Given the description of an element on the screen output the (x, y) to click on. 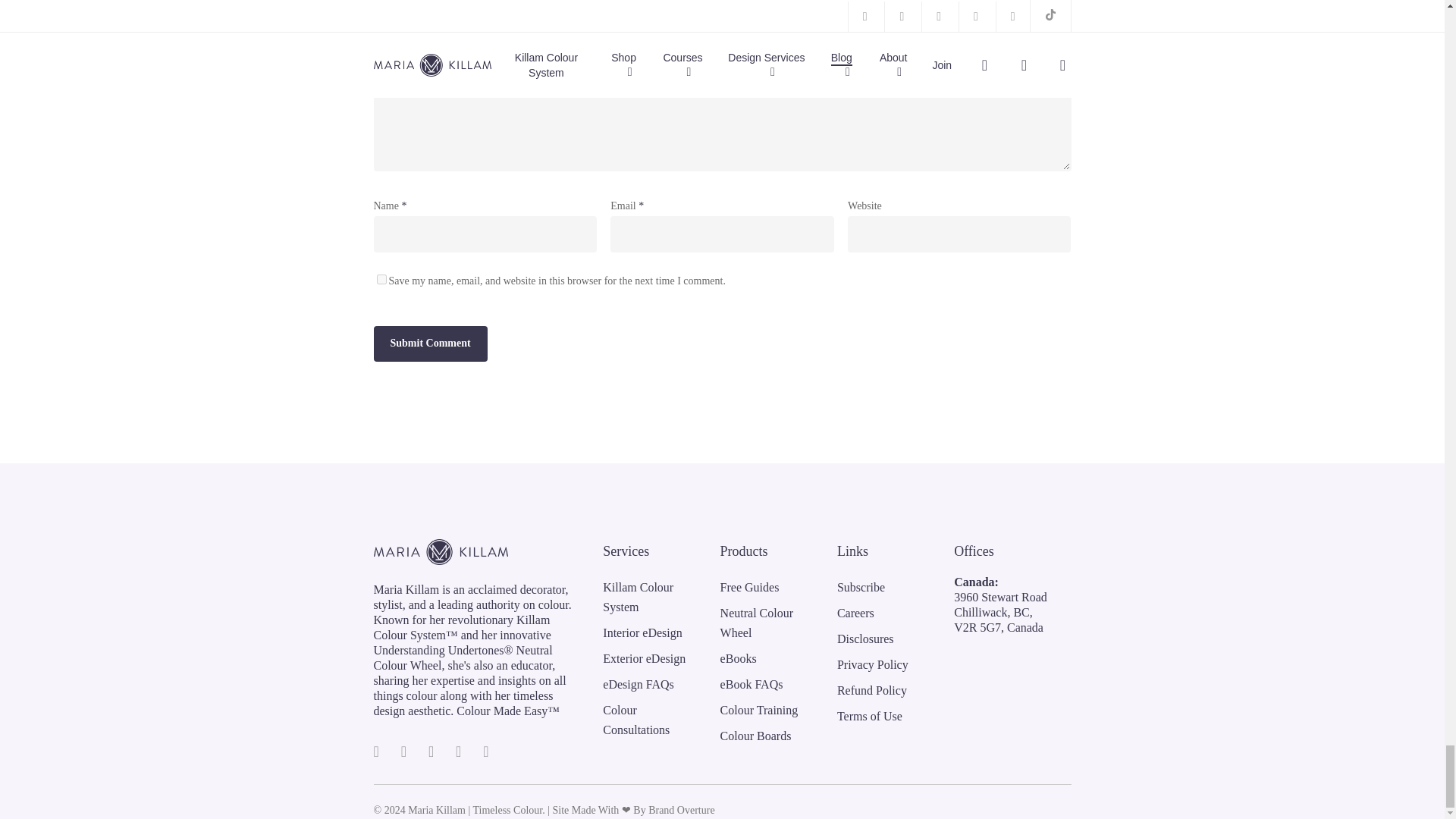
Submit Comment (429, 343)
yes (380, 279)
